Given the description of an element on the screen output the (x, y) to click on. 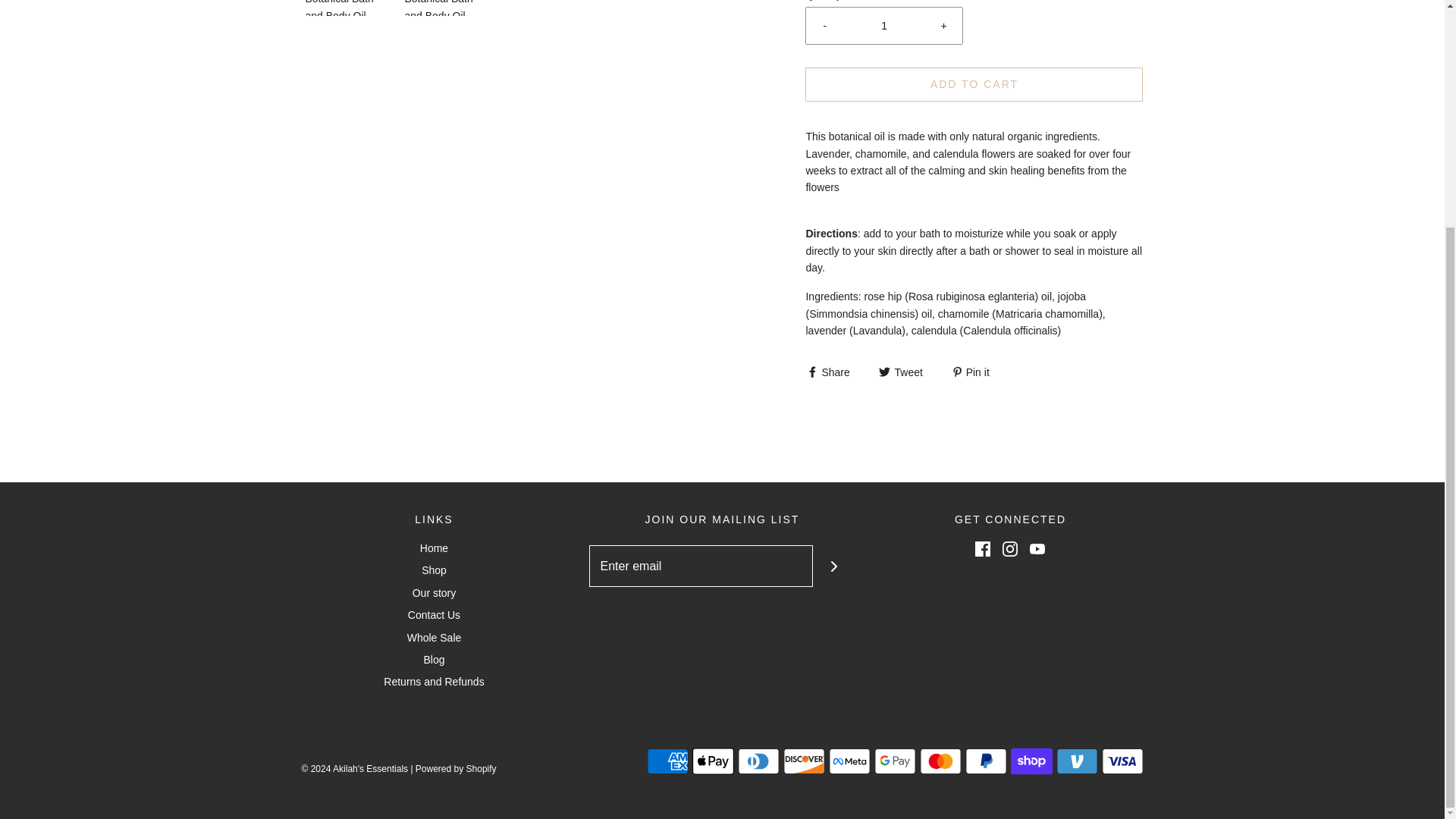
American Express (666, 761)
Meta Pay (848, 761)
1 (884, 25)
Instagram icon (1010, 548)
Venmo (1076, 761)
YouTube icon (1037, 548)
- (824, 25)
ADD TO CART (973, 84)
PayPal (984, 761)
Google Pay (894, 761)
Discover (803, 761)
Apple Pay (712, 761)
Shop Pay (1030, 761)
Diners Club (757, 761)
Facebook icon (982, 548)
